Given the description of an element on the screen output the (x, y) to click on. 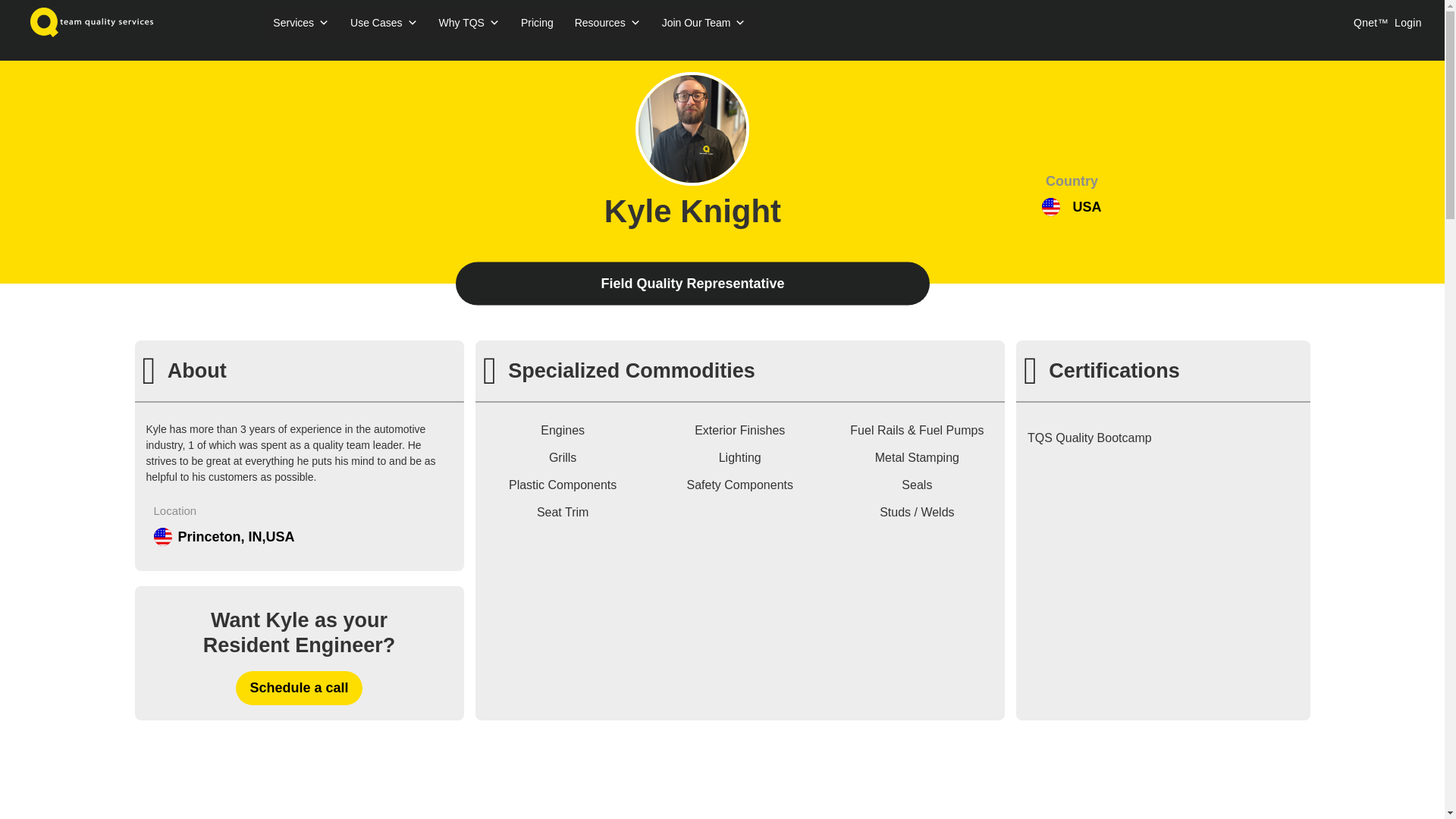
Pricing (536, 22)
Join Our Team (703, 22)
Why TQS (468, 22)
Services (300, 22)
Use Cases (383, 22)
Schedule a call (298, 687)
Schedule a call (298, 687)
Resources (607, 22)
